Given the description of an element on the screen output the (x, y) to click on. 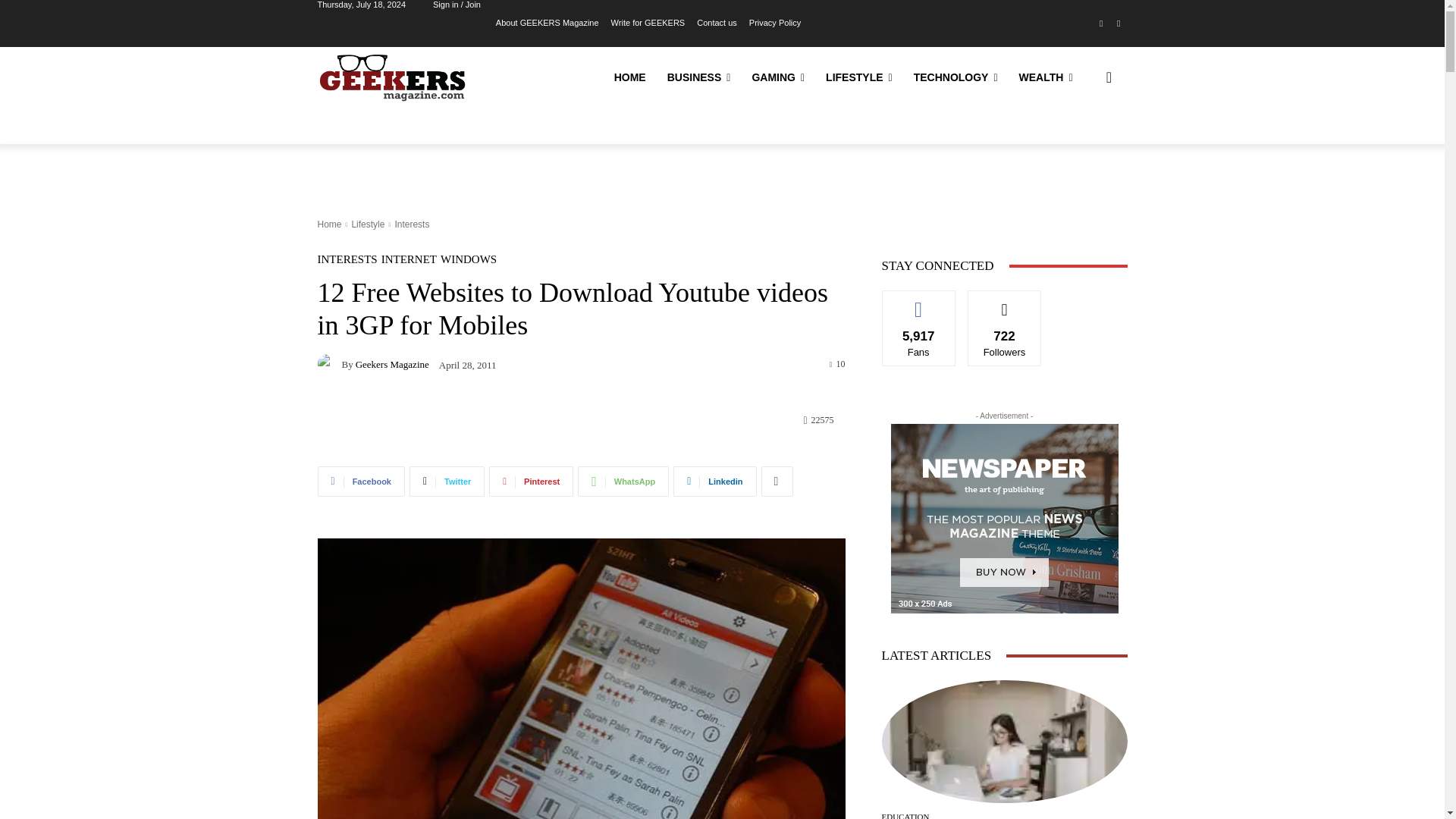
Facebook (1101, 23)
Instagram (1117, 23)
wpforms-submit (539, 544)
